Given the description of an element on the screen output the (x, y) to click on. 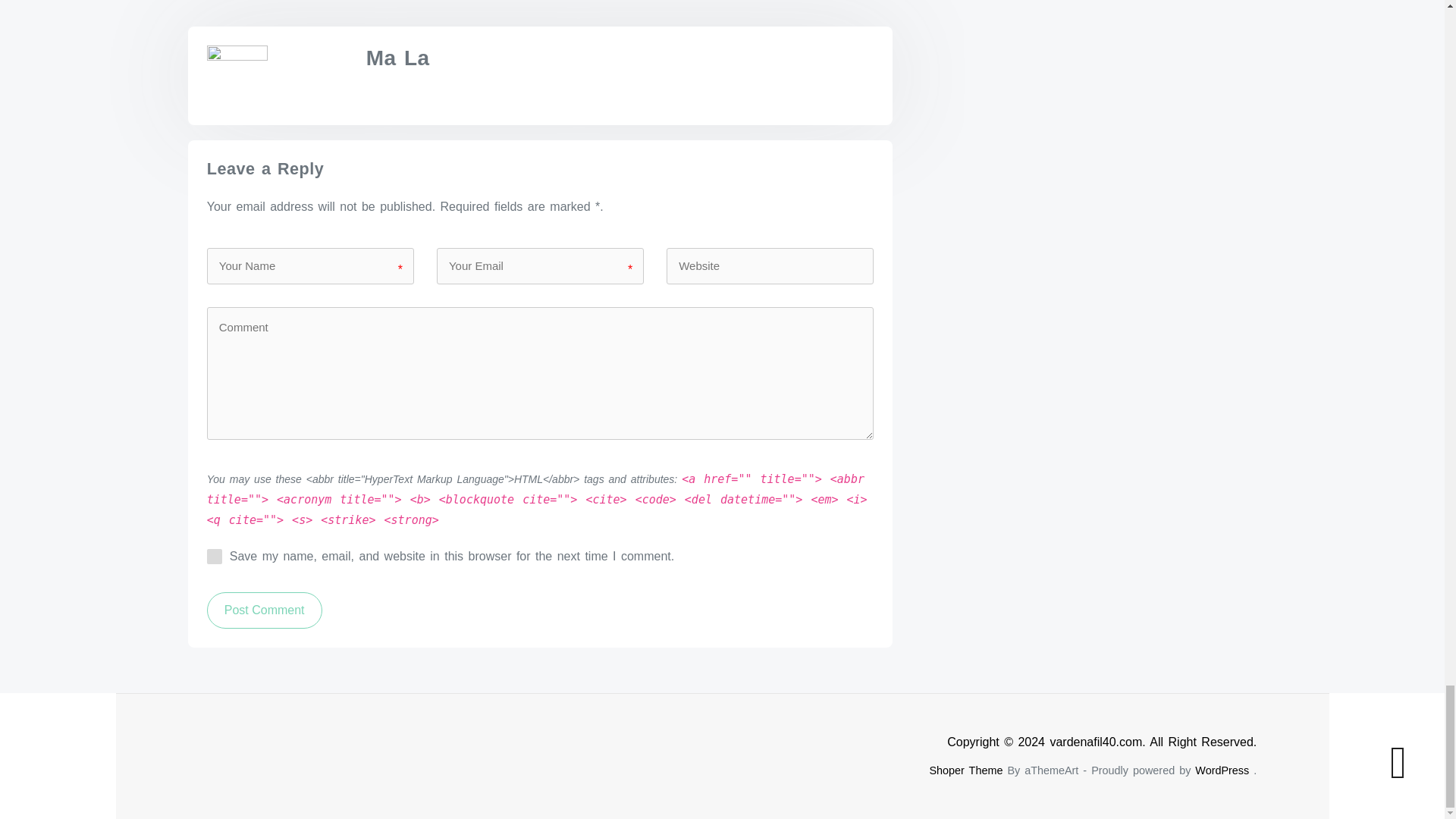
yes (214, 556)
Shoper Theme (965, 770)
Post Comment (263, 610)
WordPress (1222, 770)
